Given the description of an element on the screen output the (x, y) to click on. 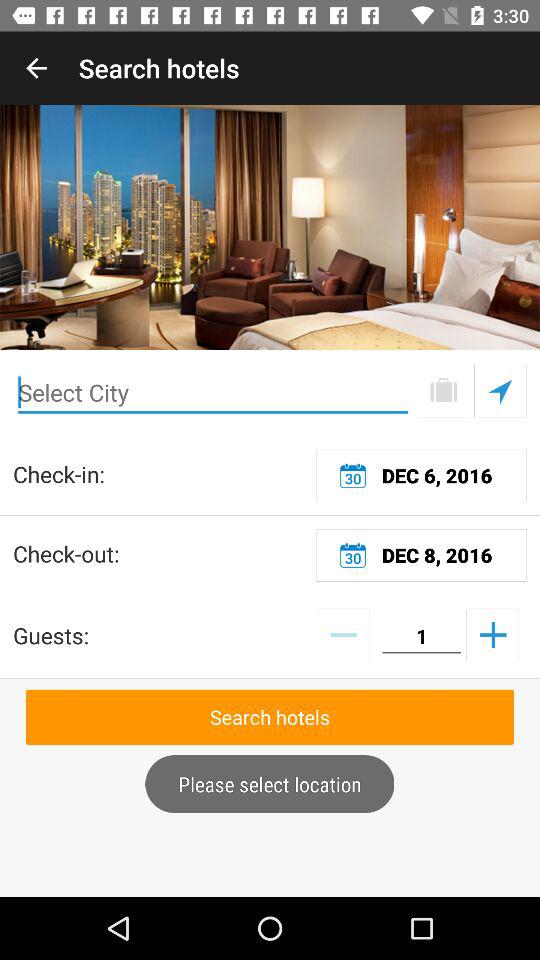
type the city of name (213, 392)
